Given the description of an element on the screen output the (x, y) to click on. 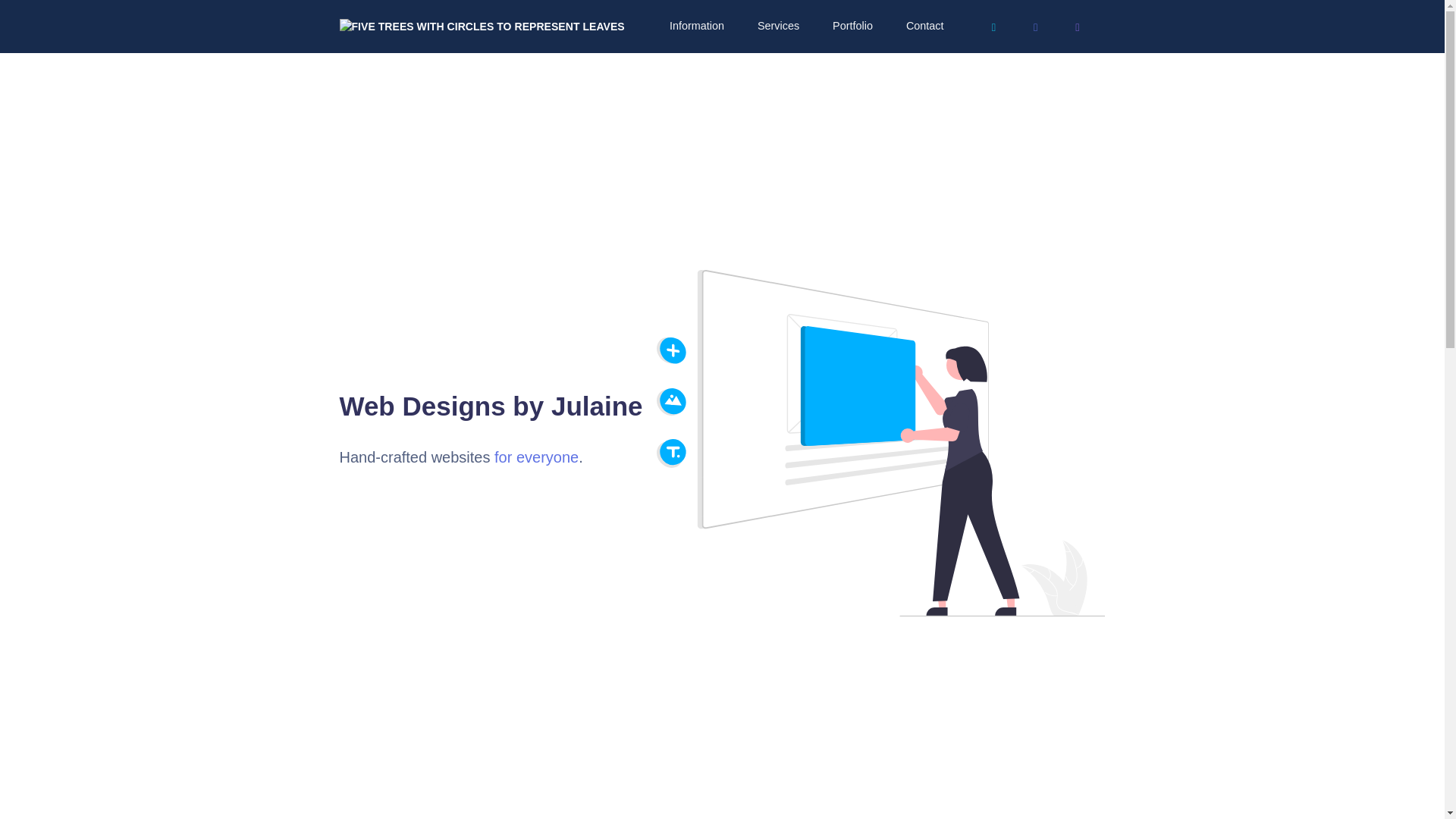
Contact (923, 25)
Services (776, 25)
Portfolio (850, 25)
Information (694, 25)
